Given the description of an element on the screen output the (x, y) to click on. 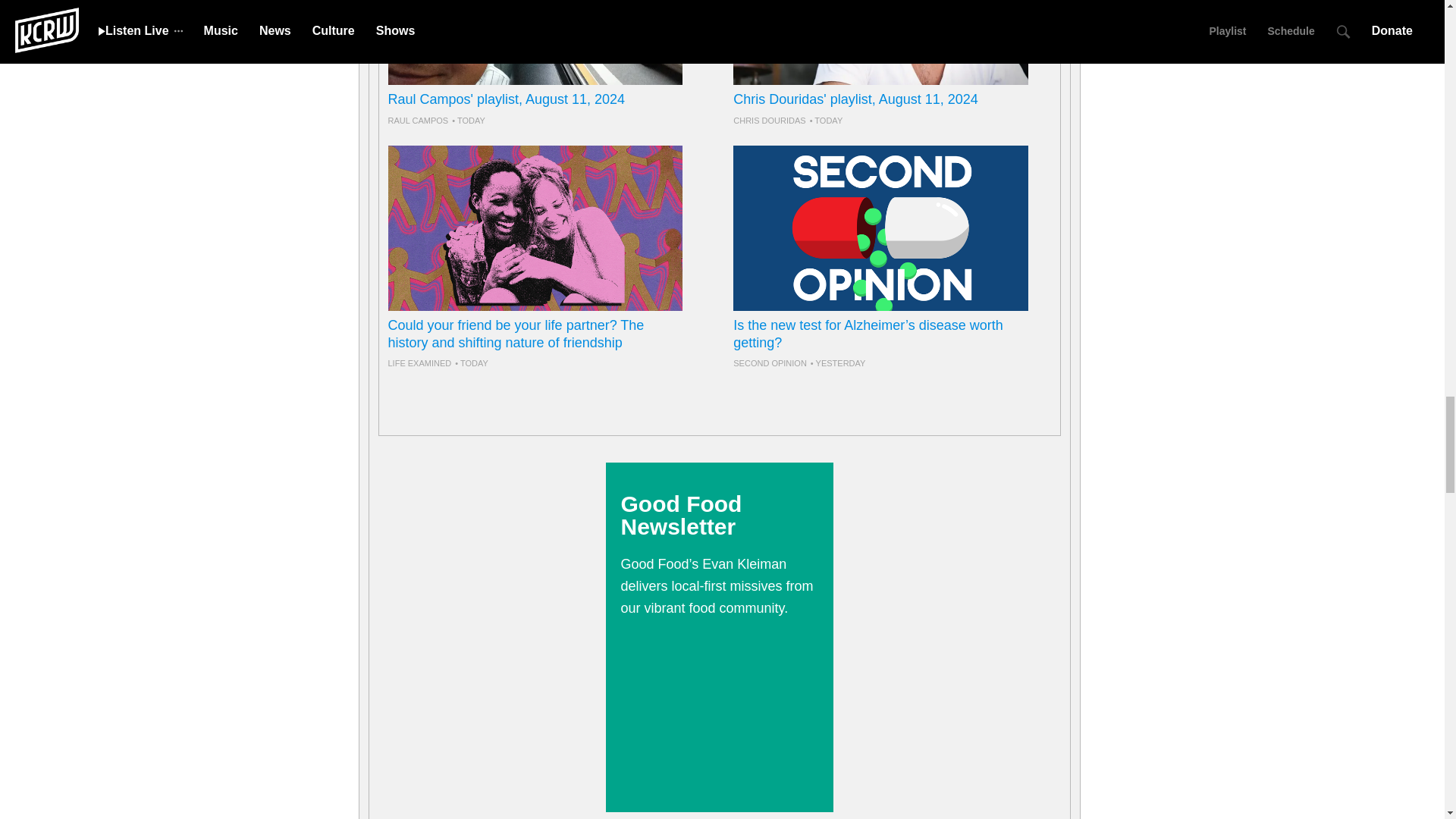
Monday, August 12th 2024, 12:00 am (470, 362)
Monday, August 12th 2024, 6:00 am (467, 120)
New releases in all genres. (880, 65)
Monday, August 12th 2024, 3:00 am (826, 120)
